Given the description of an element on the screen output the (x, y) to click on. 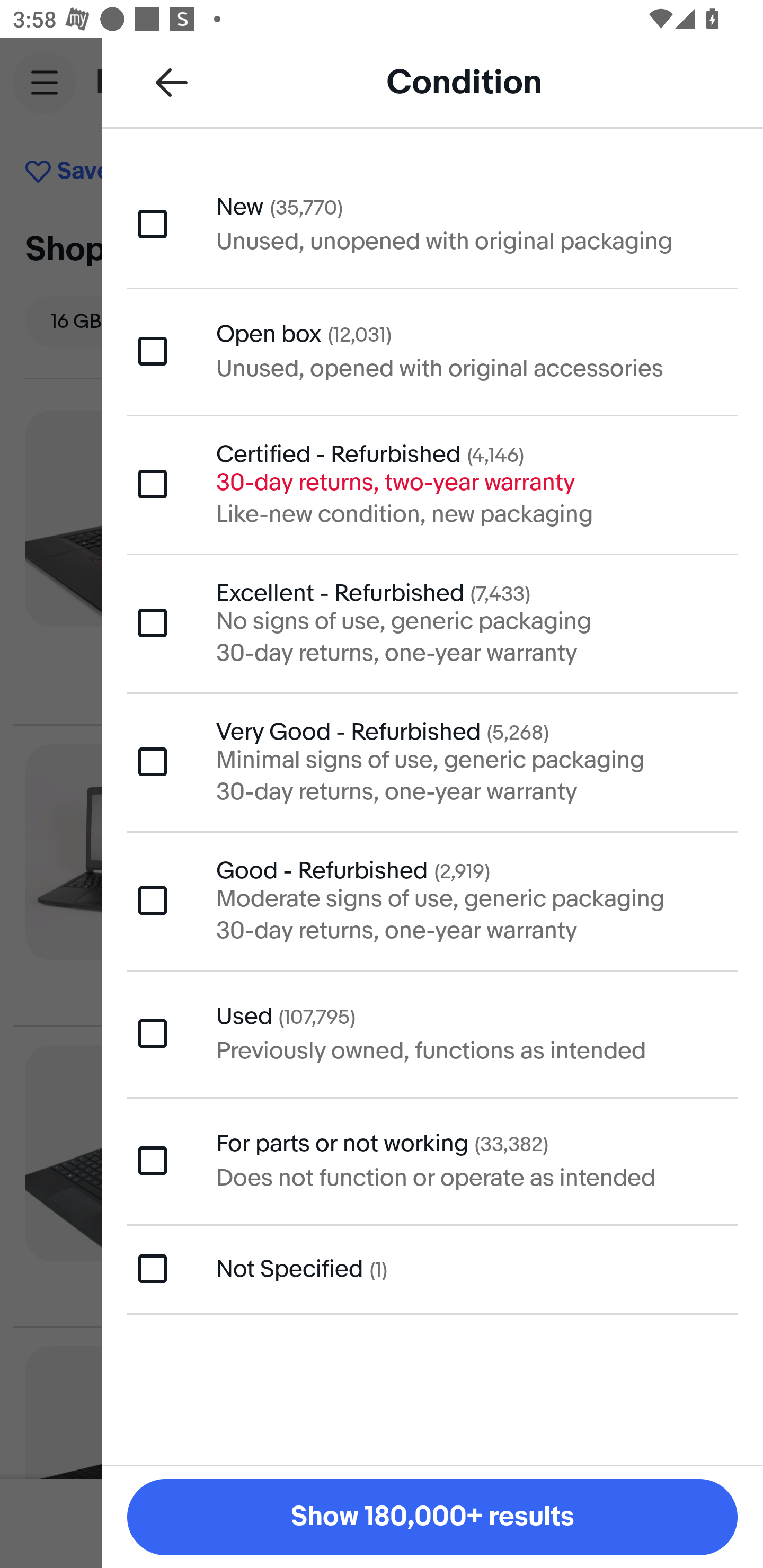
Back to all refinements (171, 81)
Not Specified (1) (432, 1268)
Show 180,000+ results (432, 1516)
